Given the description of an element on the screen output the (x, y) to click on. 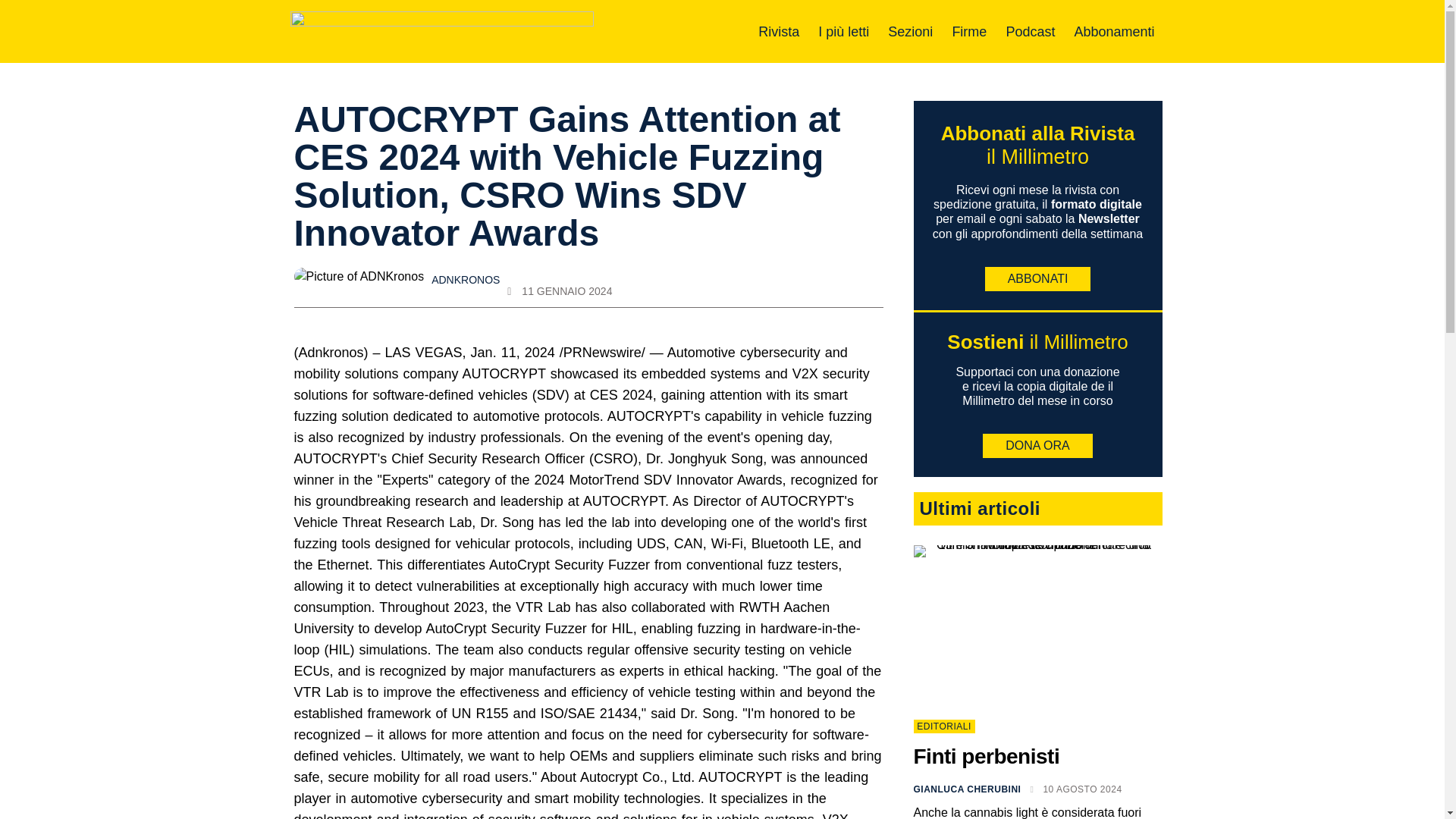
ABBONATI (1037, 278)
Rivista (778, 31)
10 AGOSTO 2024 (1075, 789)
11 GENNAIO 2024 (558, 291)
Abbonamenti (1114, 31)
Sezioni (910, 31)
GIANLUCA CHERUBINI (966, 789)
DONA ORA (1037, 445)
Podcast (1030, 31)
Firme (969, 31)
